Given the description of an element on the screen output the (x, y) to click on. 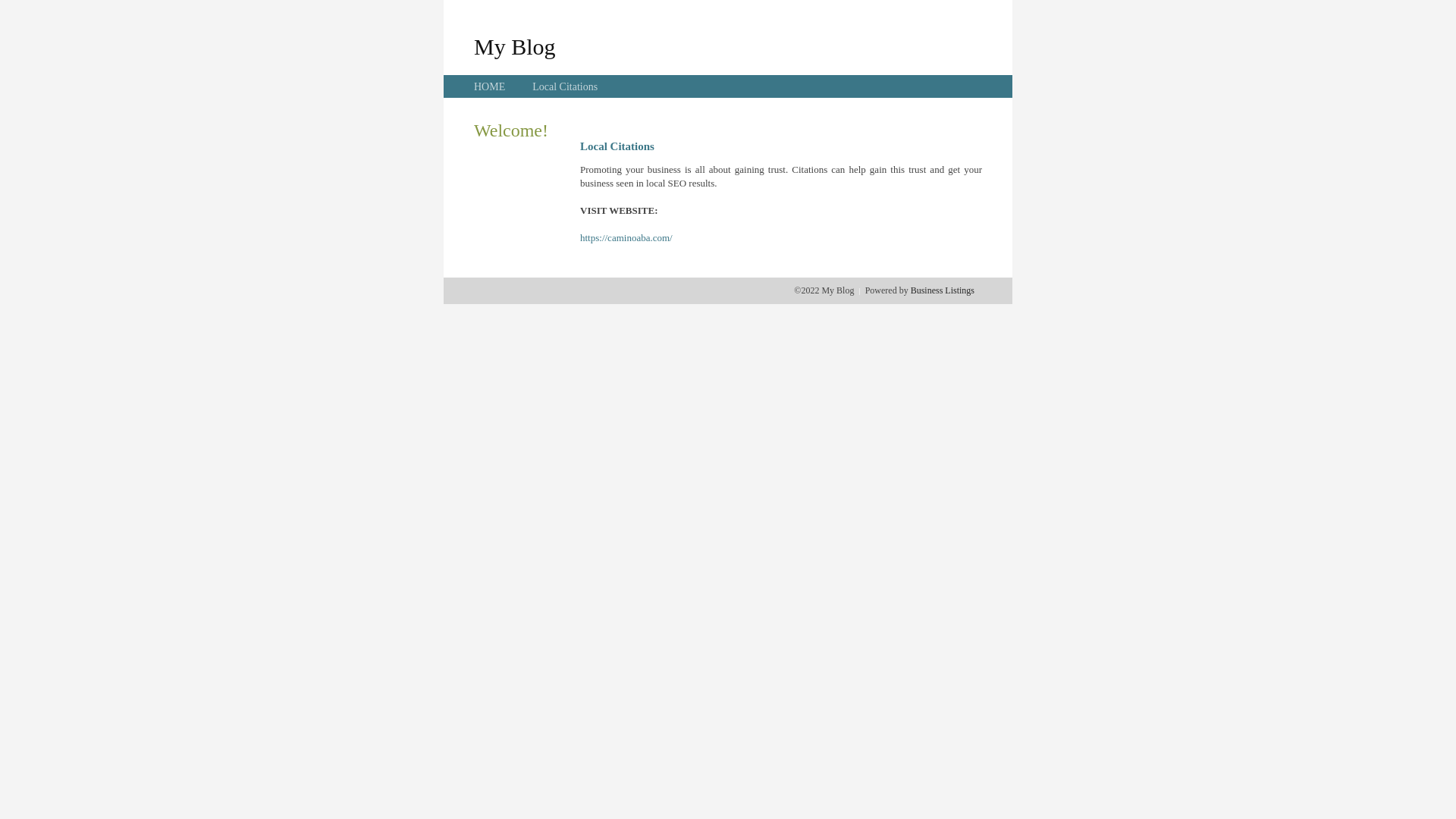
Local Citations Element type: text (564, 86)
Business Listings Element type: text (942, 290)
https://caminoaba.com/ Element type: text (626, 237)
My Blog Element type: text (514, 46)
HOME Element type: text (489, 86)
